Given the description of an element on the screen output the (x, y) to click on. 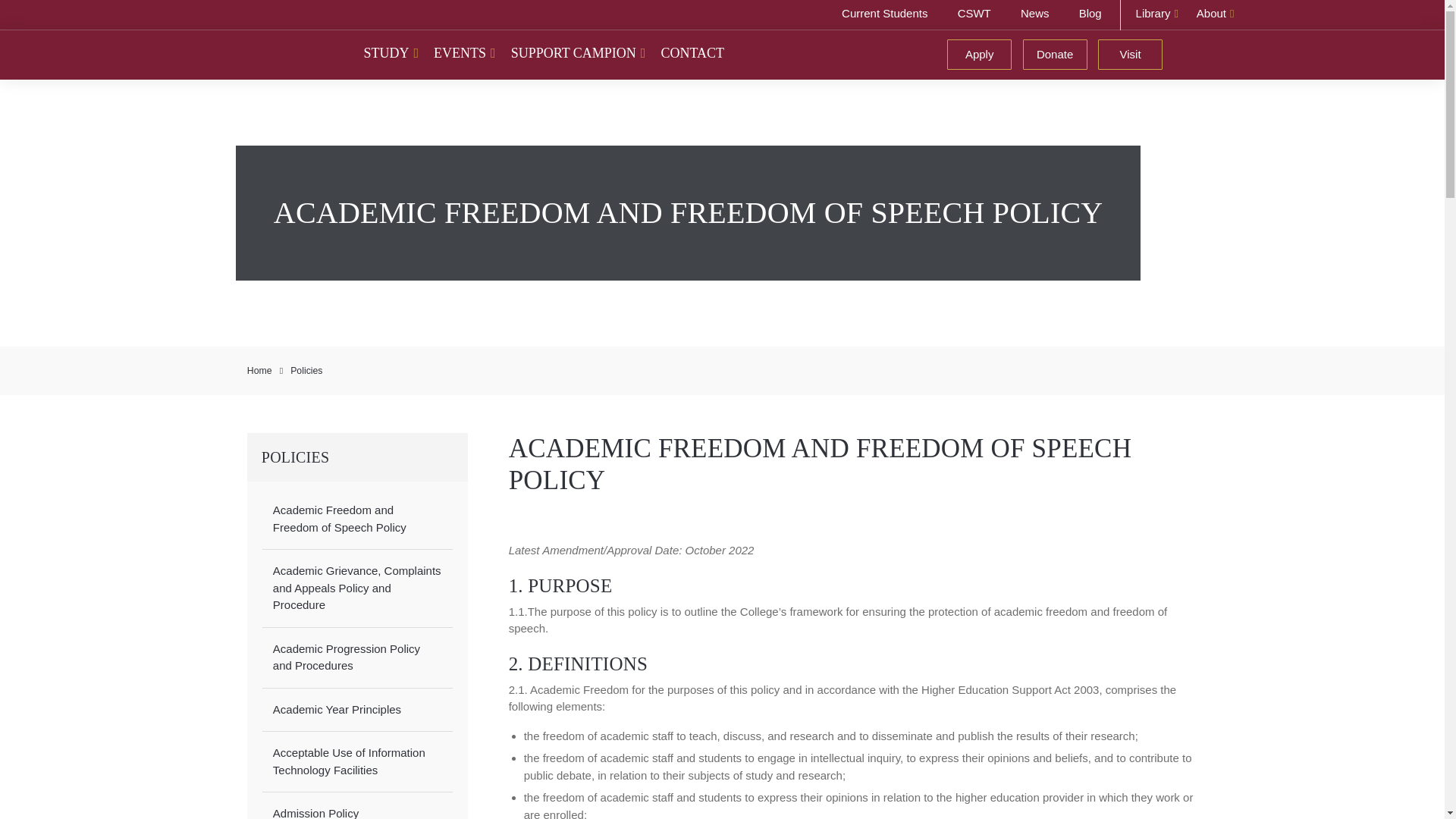
Current Students (868, 15)
Blog (1080, 15)
News (1023, 15)
STUDY (391, 52)
CSWT (959, 15)
Library (1157, 15)
About (1215, 15)
